Given the description of an element on the screen output the (x, y) to click on. 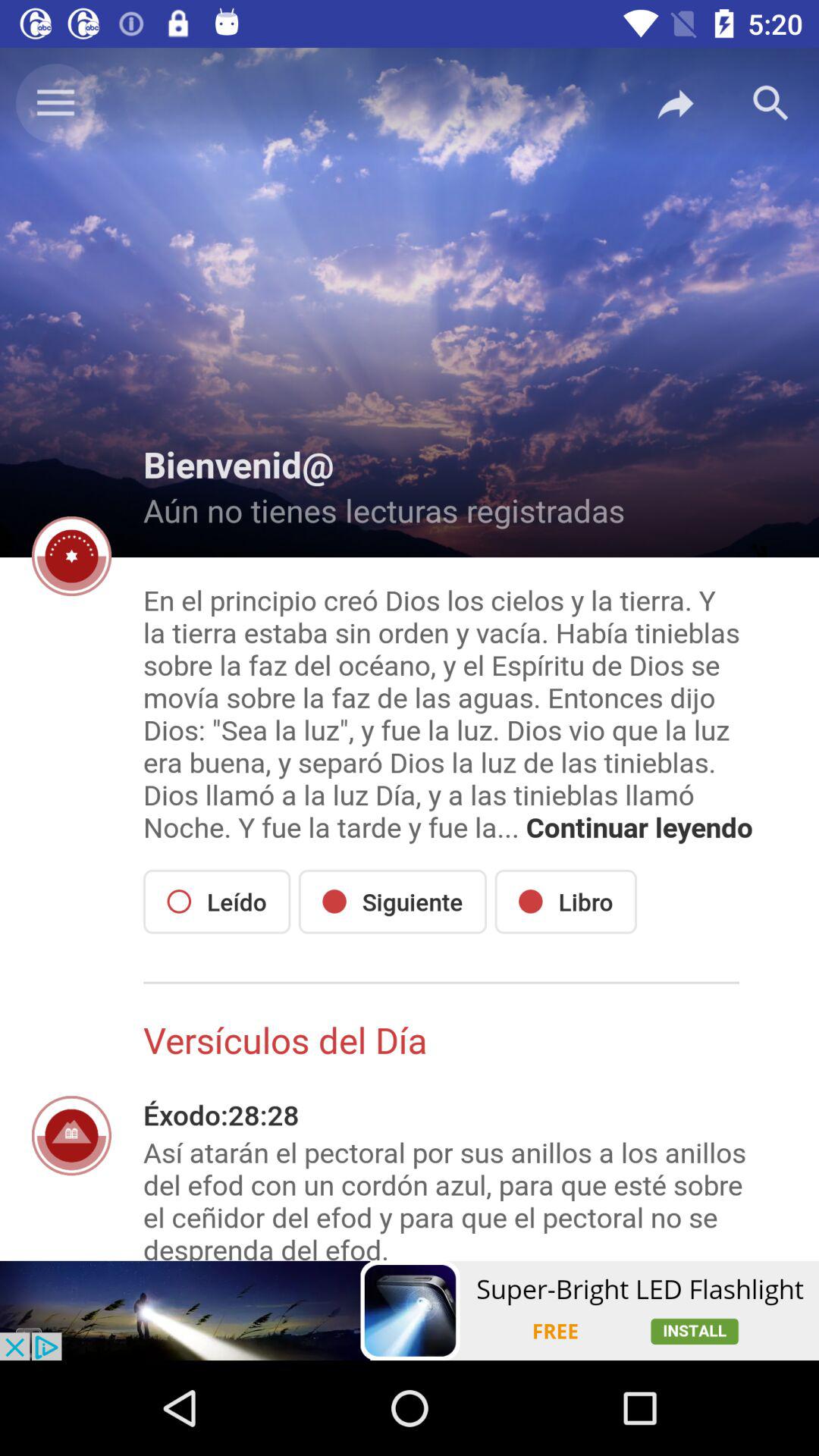
press the item to the left of siguiente (216, 901)
